Given the description of an element on the screen output the (x, y) to click on. 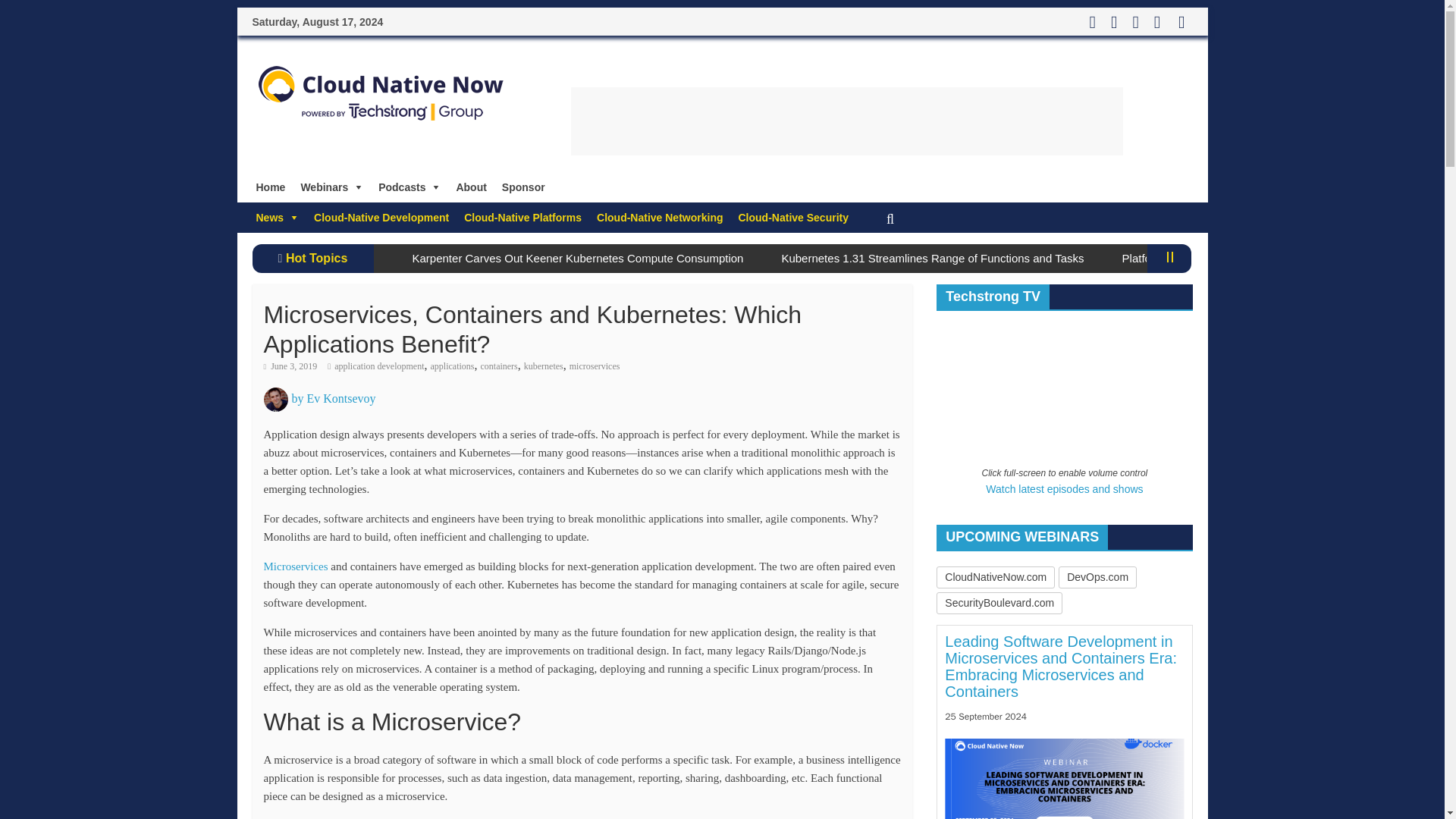
application development (378, 366)
Cloud-Native Security (793, 217)
Podcasts (409, 186)
Karpenter Carves Out Keener Kubernetes Compute Consumption (578, 257)
Platform9 Arrives at Simplified Kubernetes With Fairwinds  (1269, 257)
Kubernetes 1.31 Streamlines Range of Functions and Tasks (931, 257)
applications (451, 366)
June 3, 2019 (290, 366)
